Given the description of an element on the screen output the (x, y) to click on. 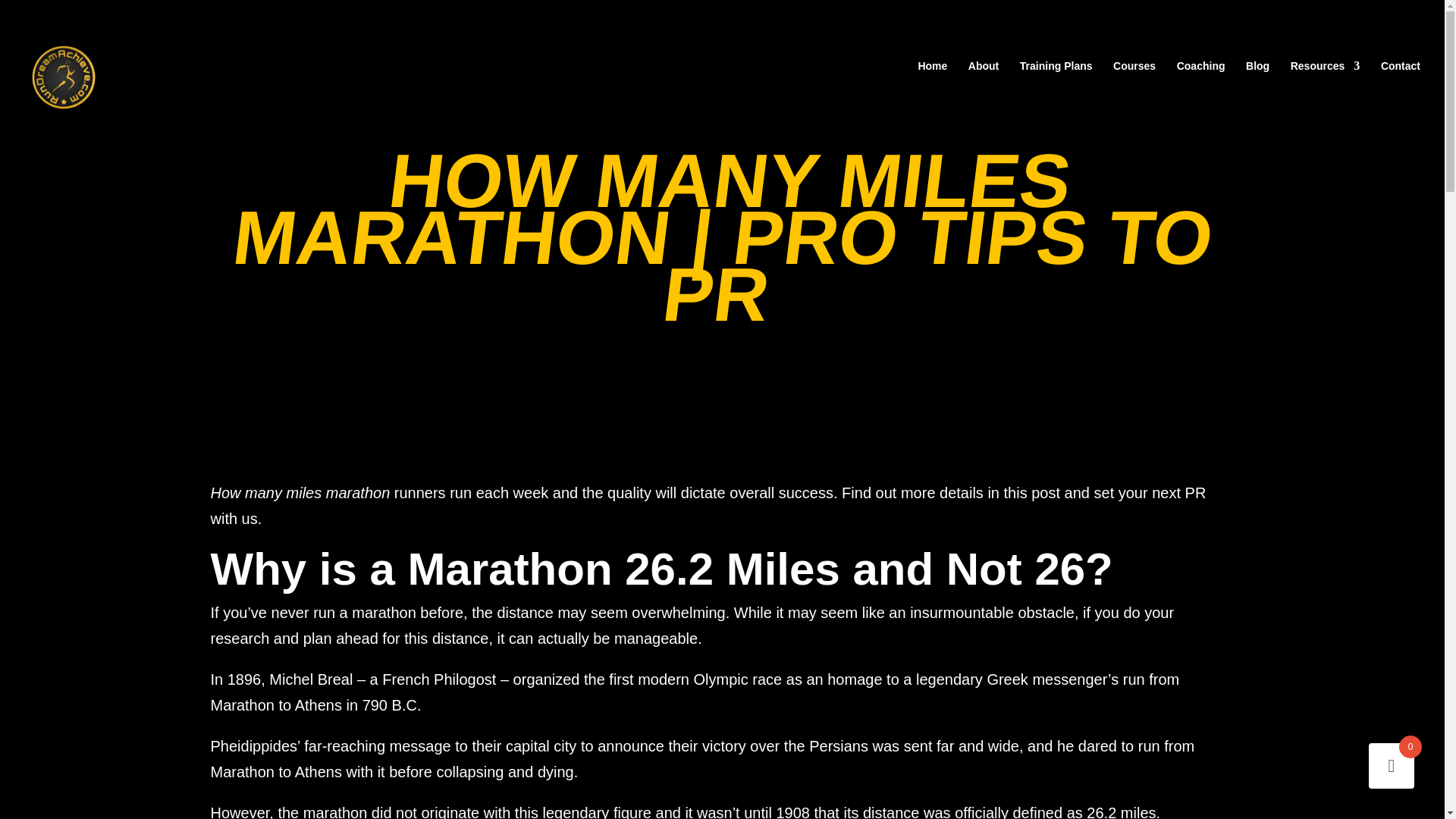
Coaching (1200, 84)
Training Plans (1056, 84)
Resources (1324, 84)
